Given the description of an element on the screen output the (x, y) to click on. 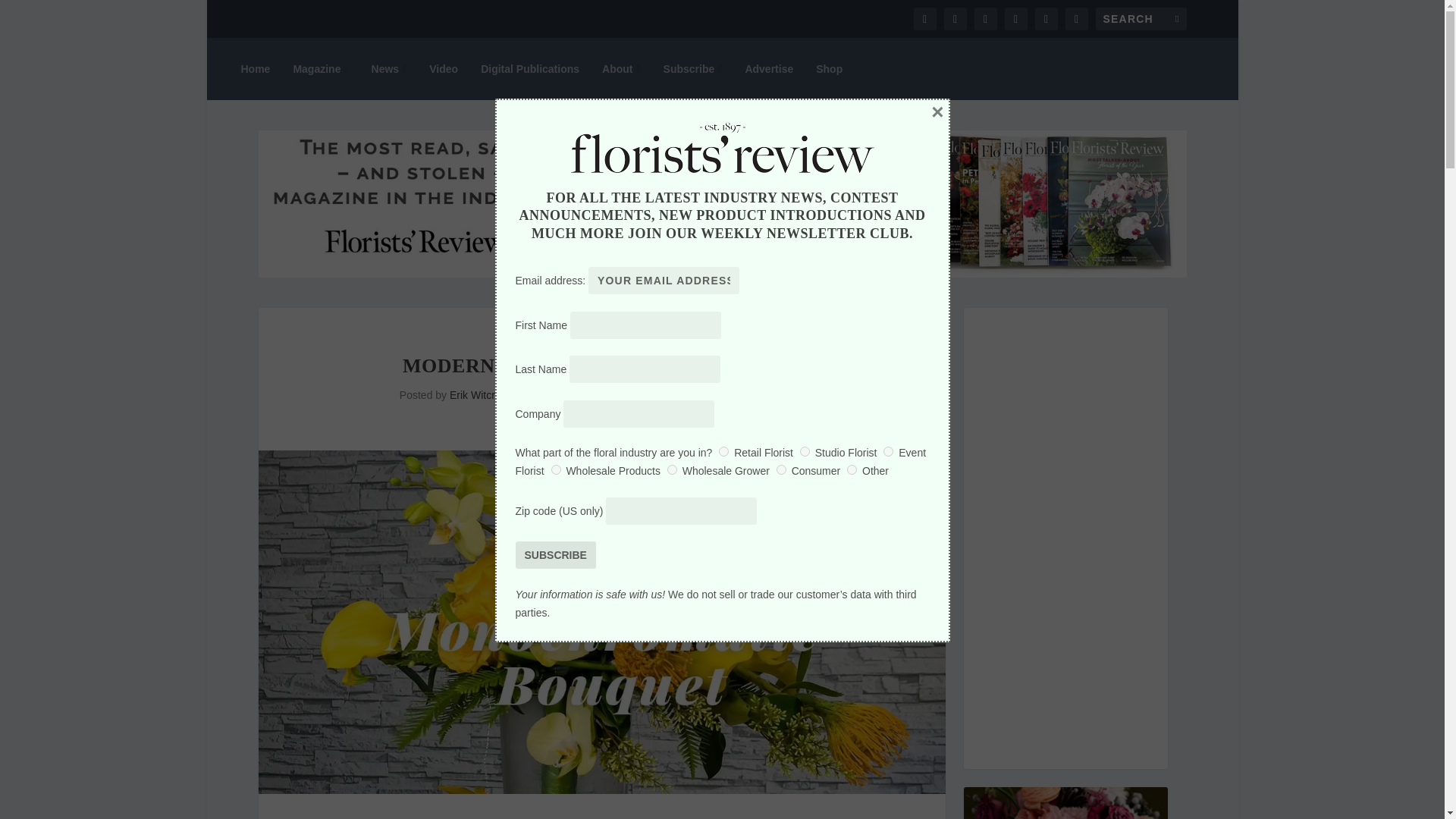
Digital Publications (529, 68)
Posts by Erik Witcraft AIFD (490, 395)
Subscribe (555, 554)
Studio Florist (804, 451)
Other (852, 470)
Wholesale Products (555, 470)
Retail Florist (724, 451)
Event Florist (888, 451)
Wholesale Grower (671, 470)
Consumer (781, 470)
Magazine (319, 68)
